Given the description of an element on the screen output the (x, y) to click on. 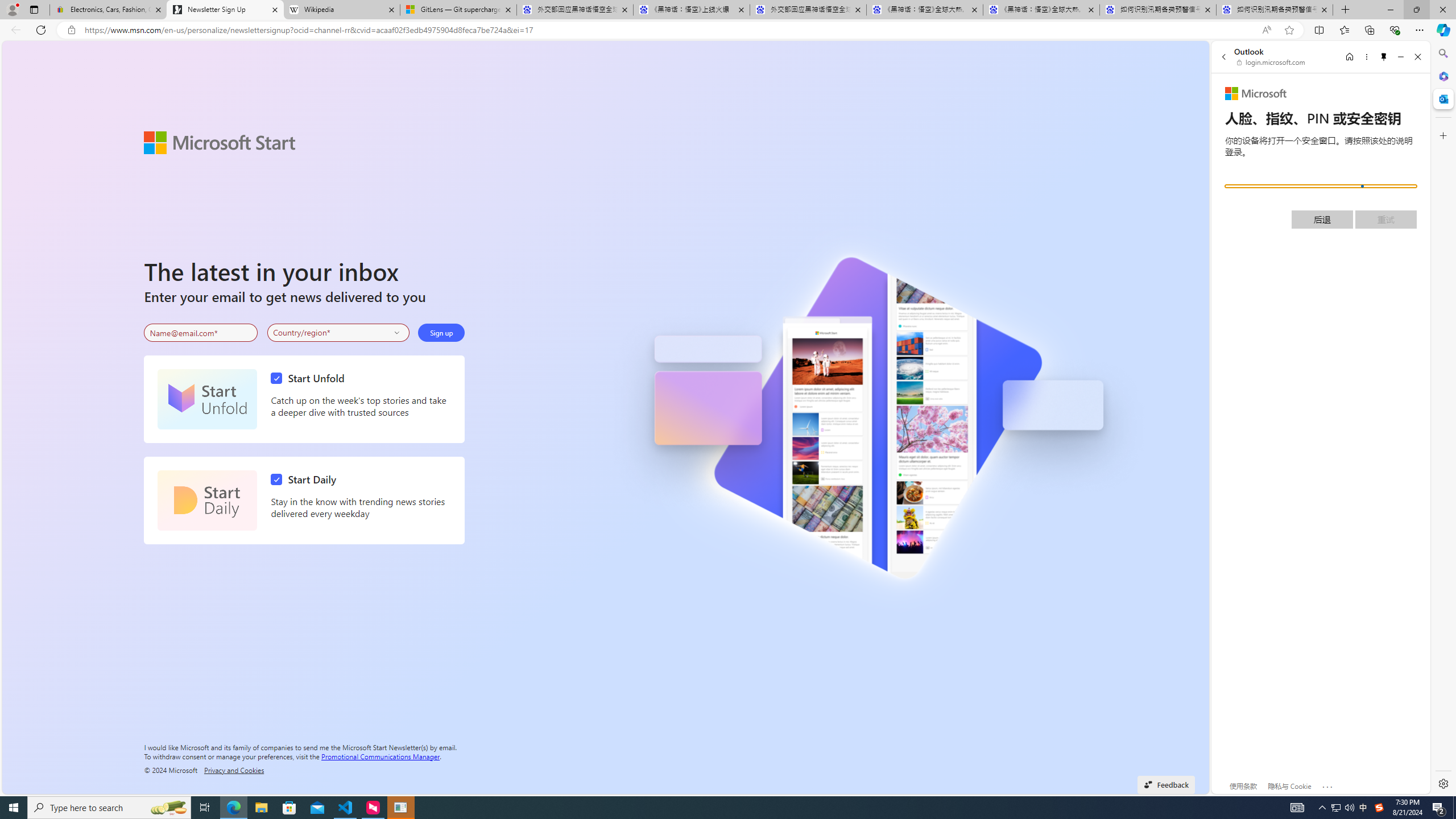
Electronics, Cars, Fashion, Collectibles & More | eBay (108, 9)
Wikipedia (341, 9)
